Given the description of an element on the screen output the (x, y) to click on. 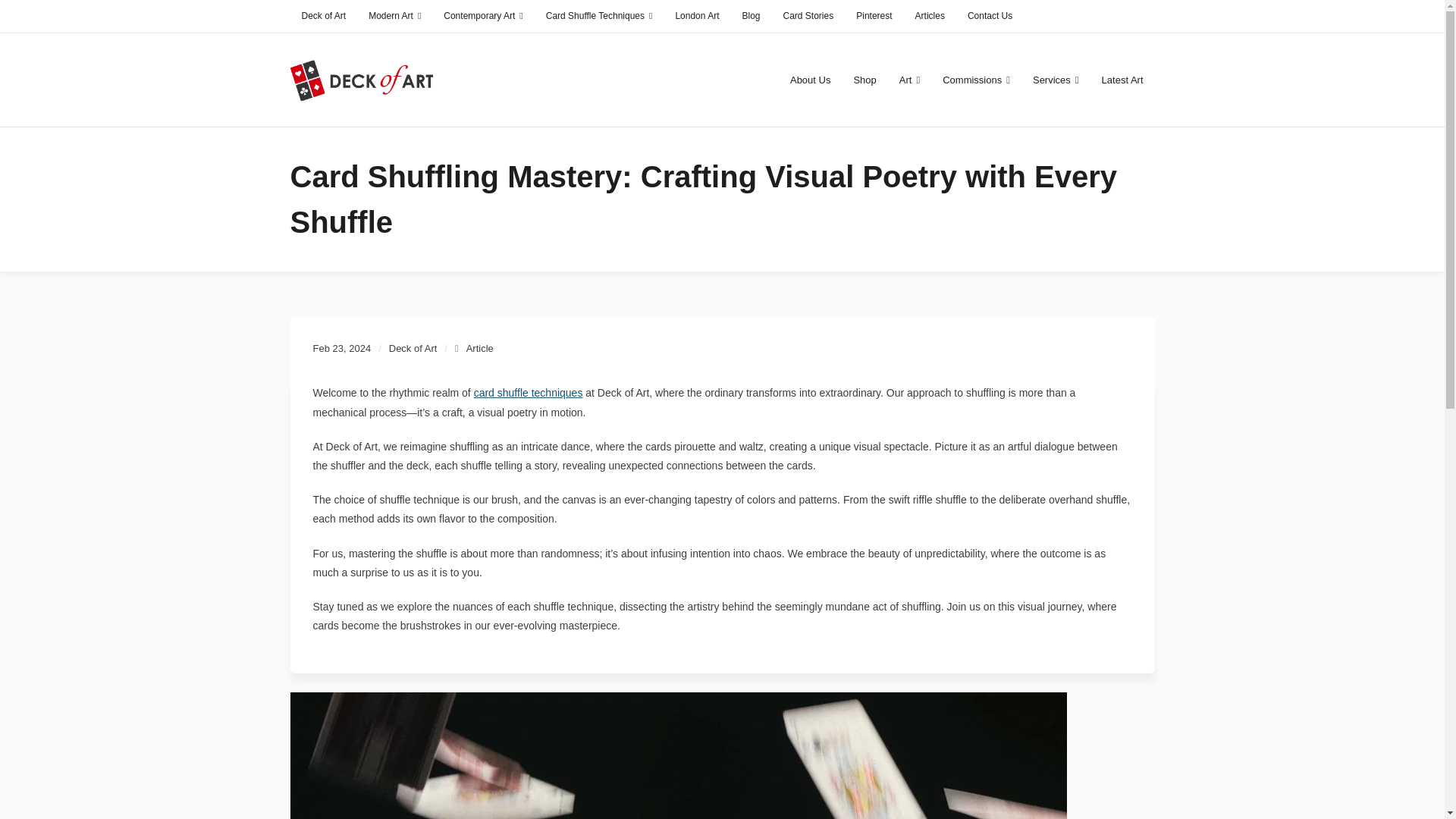
Pinterest (873, 16)
Blog (750, 16)
Card Shuffle Techniques (598, 16)
Deck of Art (322, 16)
Contemporary Art (483, 16)
View all posts by Deck of Art (413, 348)
Card Stories (808, 16)
Modern Art (394, 16)
London Art (696, 16)
